Given the description of an element on the screen output the (x, y) to click on. 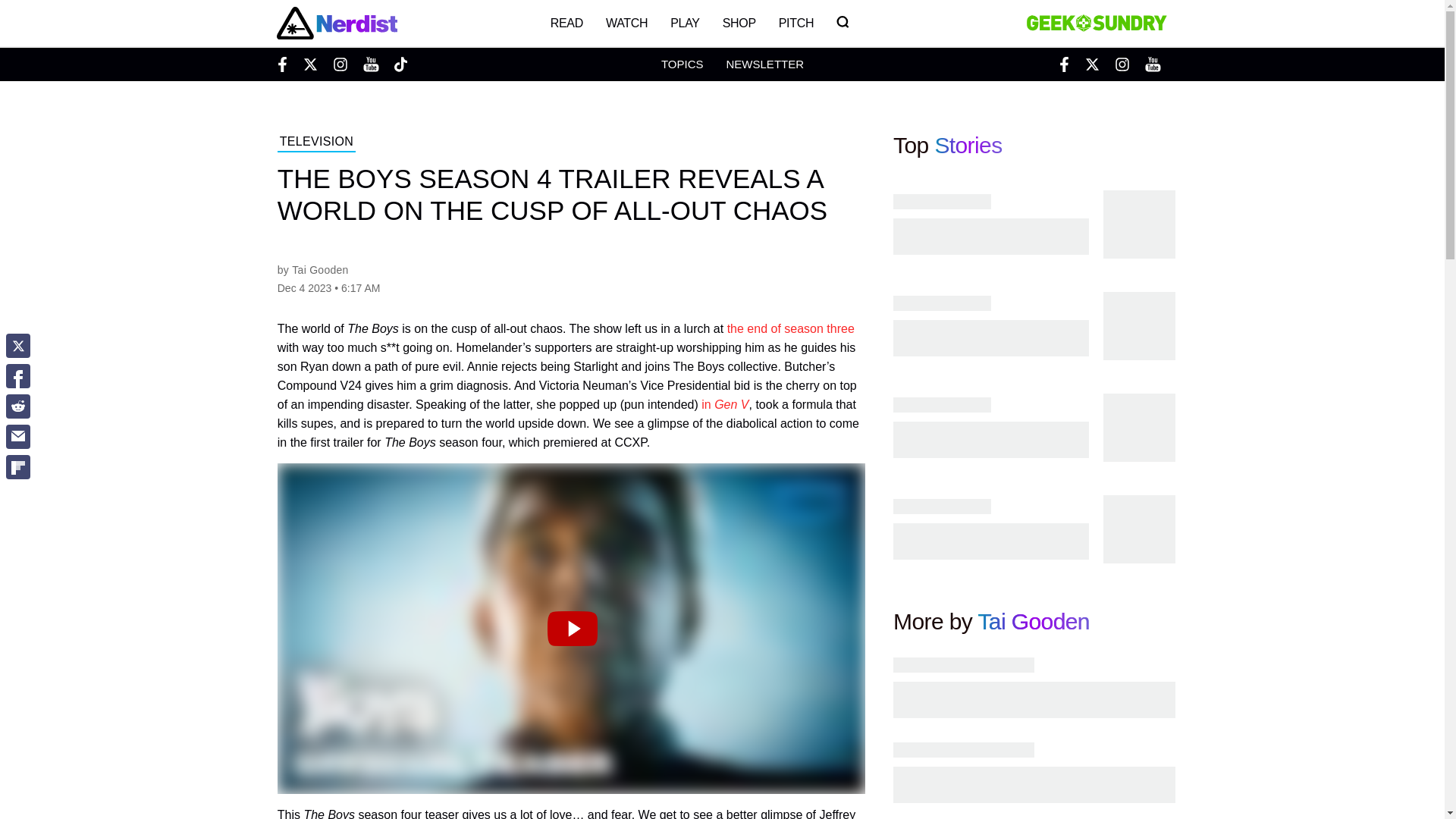
WATCH (626, 22)
NEWSLETTER (764, 63)
PLAY (684, 22)
Youtube Geek and Sundry (1153, 63)
Twitter Nerdist (309, 63)
TELEVISION (316, 143)
SHOP (739, 22)
TOPICS (681, 63)
SHOP (739, 22)
Newsletter (764, 63)
